Given the description of an element on the screen output the (x, y) to click on. 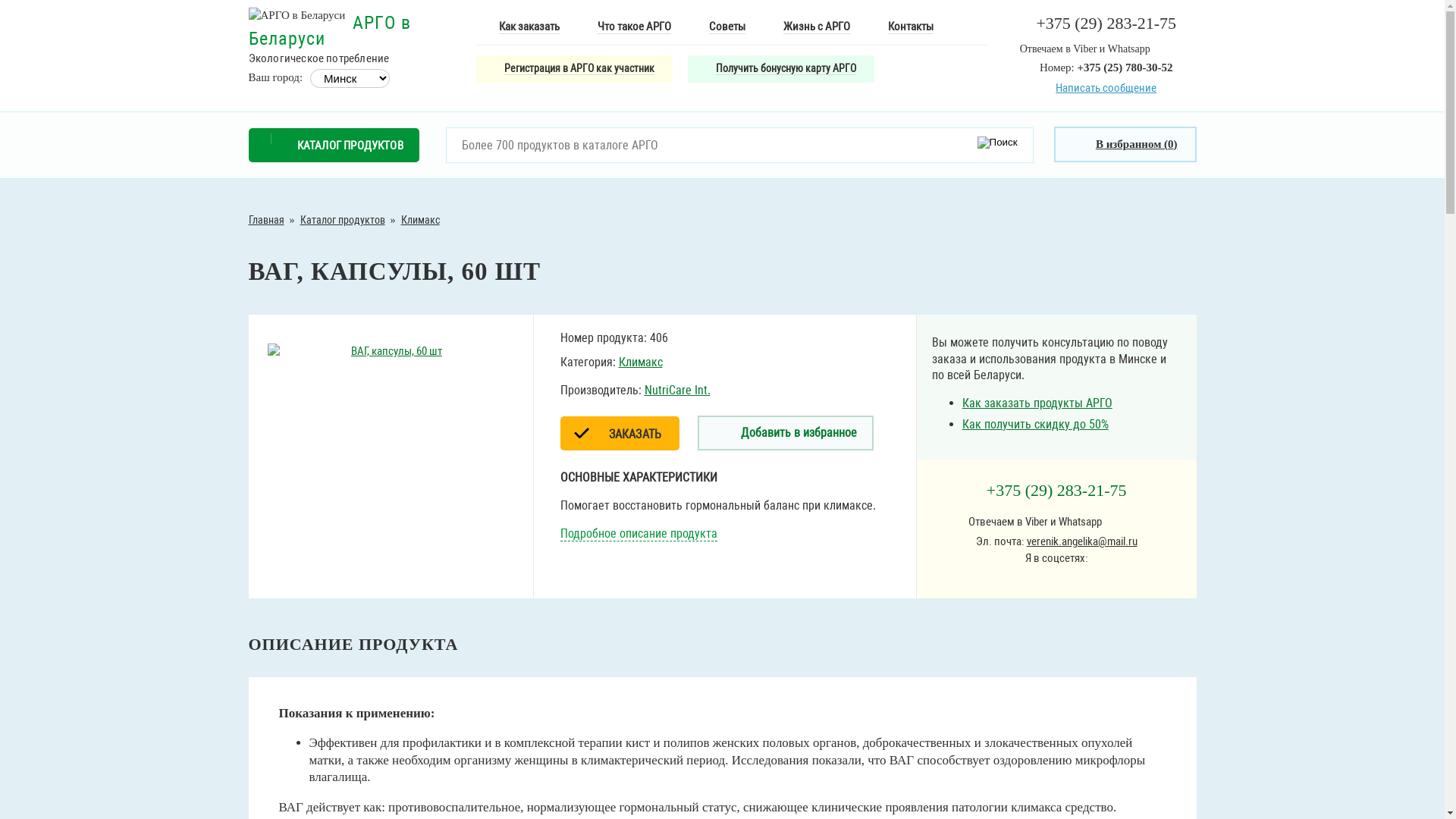
NutriCare Int. Element type: text (677, 389)
+375 (25) 780-30-52 Element type: text (1125, 67)
+375 (29) 283-21-75 Element type: text (1056, 489)
verenik.angelika@mail.ru Element type: text (1081, 541)
+375 (29) 283-21-75 Element type: text (1105, 22)
